Given the description of an element on the screen output the (x, y) to click on. 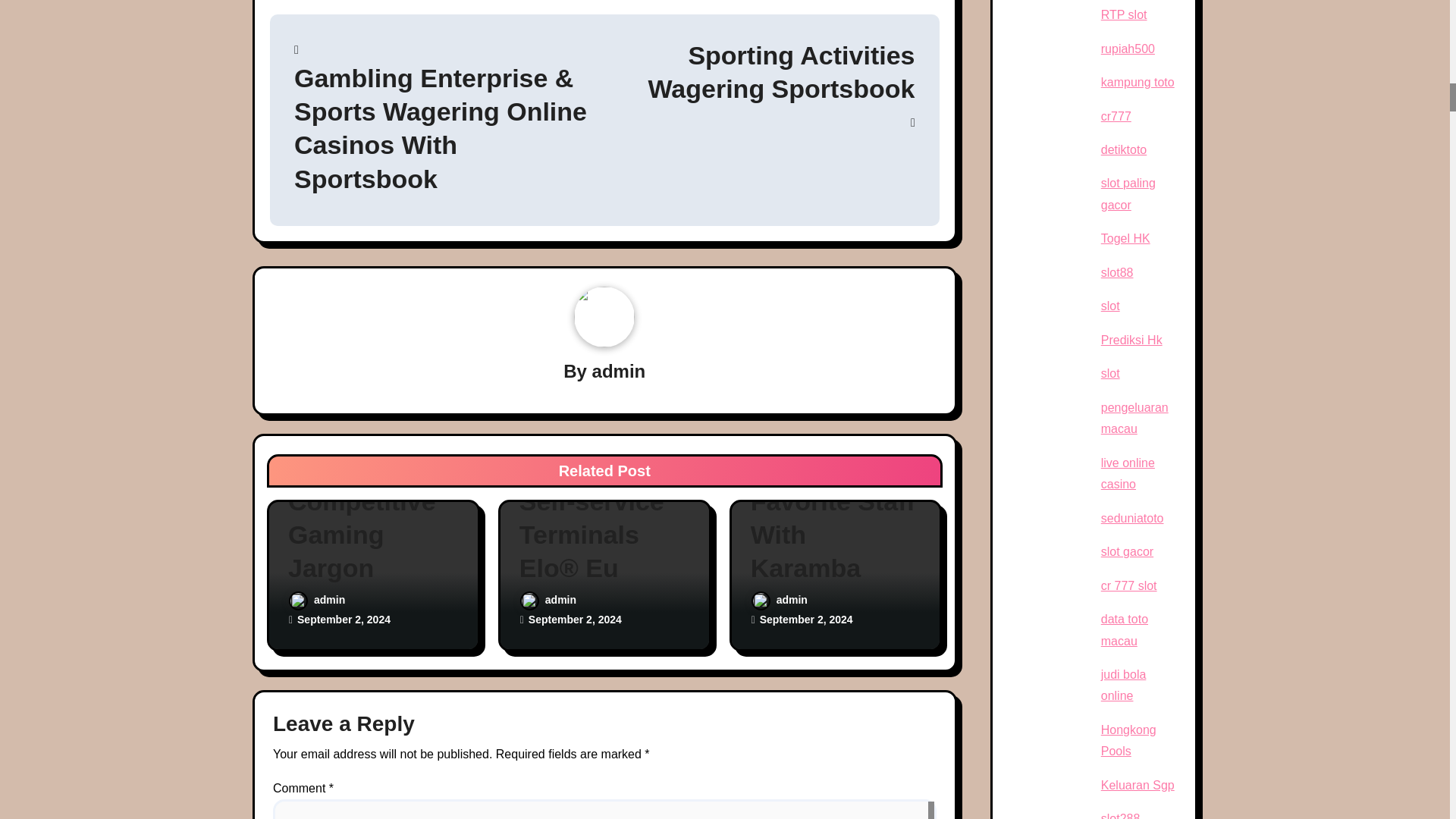
Permalink to: Bet On Your Favorite Staff With Karamba (836, 518)
Sporting Activities Wagering Sportsbook (759, 83)
September 2, 2024 (343, 619)
admin (316, 599)
admin (619, 371)
